Given the description of an element on the screen output the (x, y) to click on. 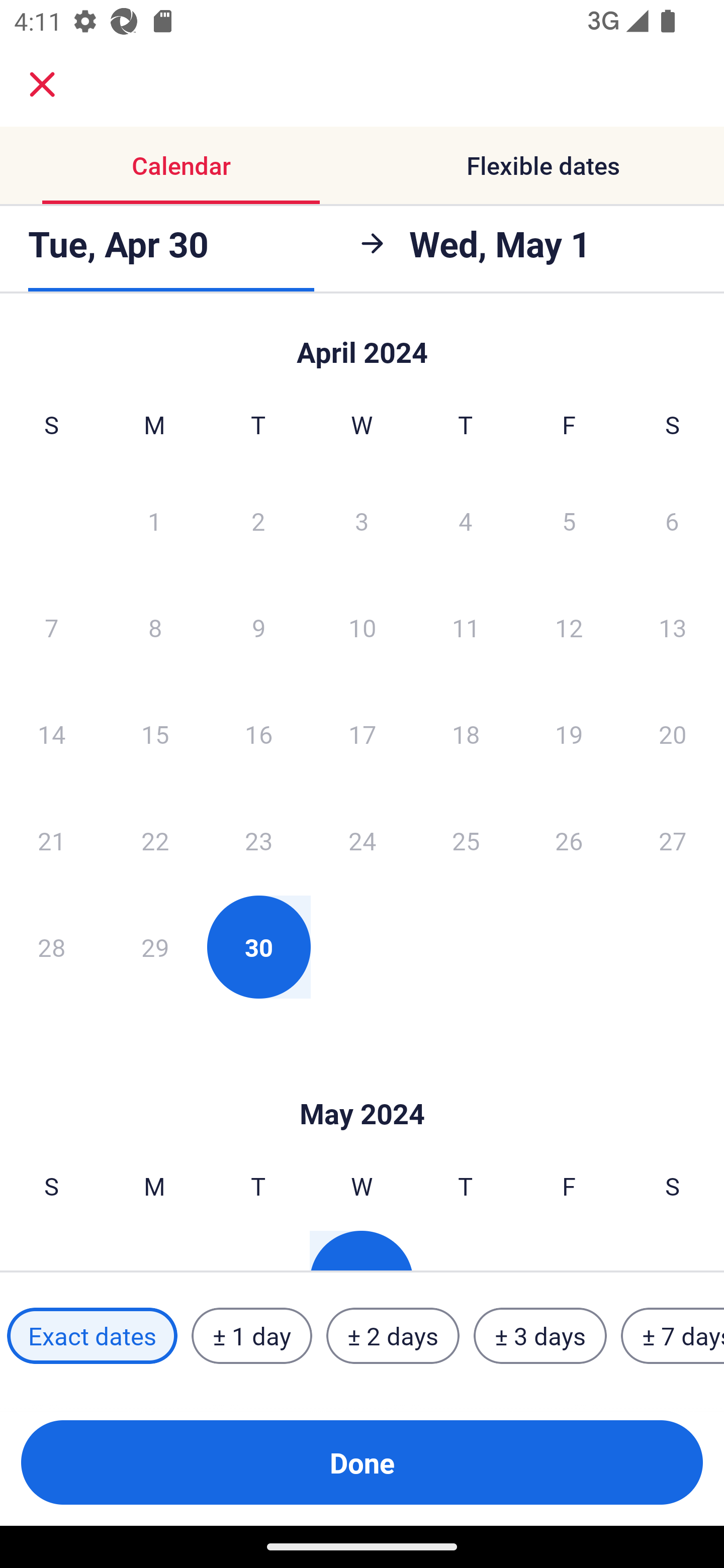
close. (42, 84)
Flexible dates (542, 164)
Skip to Done (362, 343)
1 Monday, April 1, 2024 (154, 520)
2 Tuesday, April 2, 2024 (257, 520)
3 Wednesday, April 3, 2024 (361, 520)
4 Thursday, April 4, 2024 (465, 520)
5 Friday, April 5, 2024 (568, 520)
6 Saturday, April 6, 2024 (672, 520)
7 Sunday, April 7, 2024 (51, 626)
8 Monday, April 8, 2024 (155, 626)
9 Tuesday, April 9, 2024 (258, 626)
10 Wednesday, April 10, 2024 (362, 626)
11 Thursday, April 11, 2024 (465, 626)
12 Friday, April 12, 2024 (569, 626)
13 Saturday, April 13, 2024 (672, 626)
14 Sunday, April 14, 2024 (51, 733)
15 Monday, April 15, 2024 (155, 733)
16 Tuesday, April 16, 2024 (258, 733)
17 Wednesday, April 17, 2024 (362, 733)
18 Thursday, April 18, 2024 (465, 733)
19 Friday, April 19, 2024 (569, 733)
20 Saturday, April 20, 2024 (672, 733)
21 Sunday, April 21, 2024 (51, 840)
22 Monday, April 22, 2024 (155, 840)
23 Tuesday, April 23, 2024 (258, 840)
24 Wednesday, April 24, 2024 (362, 840)
25 Thursday, April 25, 2024 (465, 840)
26 Friday, April 26, 2024 (569, 840)
27 Saturday, April 27, 2024 (672, 840)
28 Sunday, April 28, 2024 (51, 946)
29 Monday, April 29, 2024 (155, 946)
Skip to Done (362, 1083)
Exact dates (92, 1335)
± 1 day (251, 1335)
± 2 days (392, 1335)
± 3 days (539, 1335)
± 7 days (672, 1335)
Done (361, 1462)
